Given the description of an element on the screen output the (x, y) to click on. 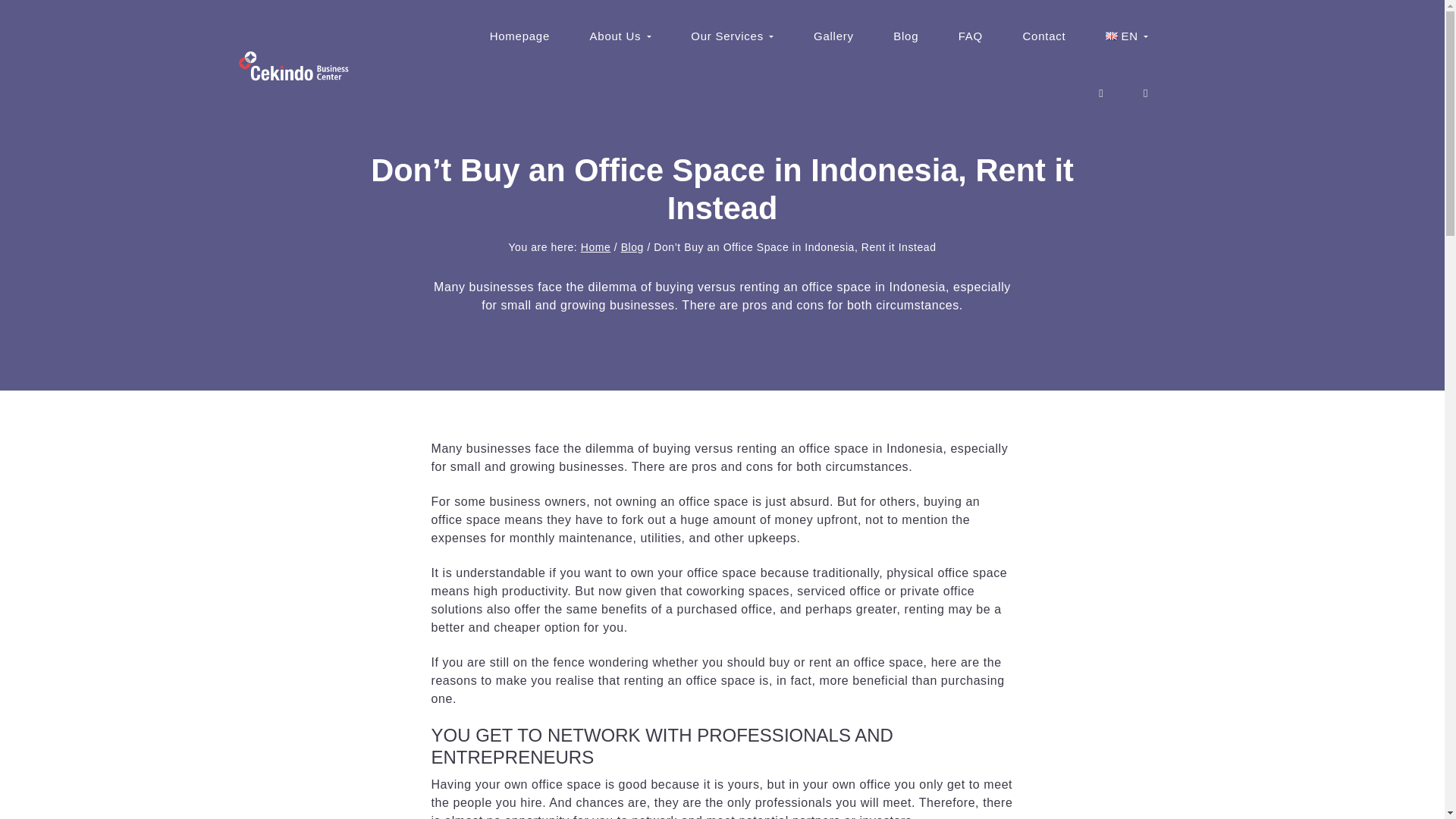
About Us (620, 35)
Blog (906, 35)
Blog (632, 246)
Contact (1044, 35)
EN (1125, 35)
Homepage (520, 35)
Gallery (833, 35)
FAQ (970, 35)
Home (595, 246)
